Given the description of an element on the screen output the (x, y) to click on. 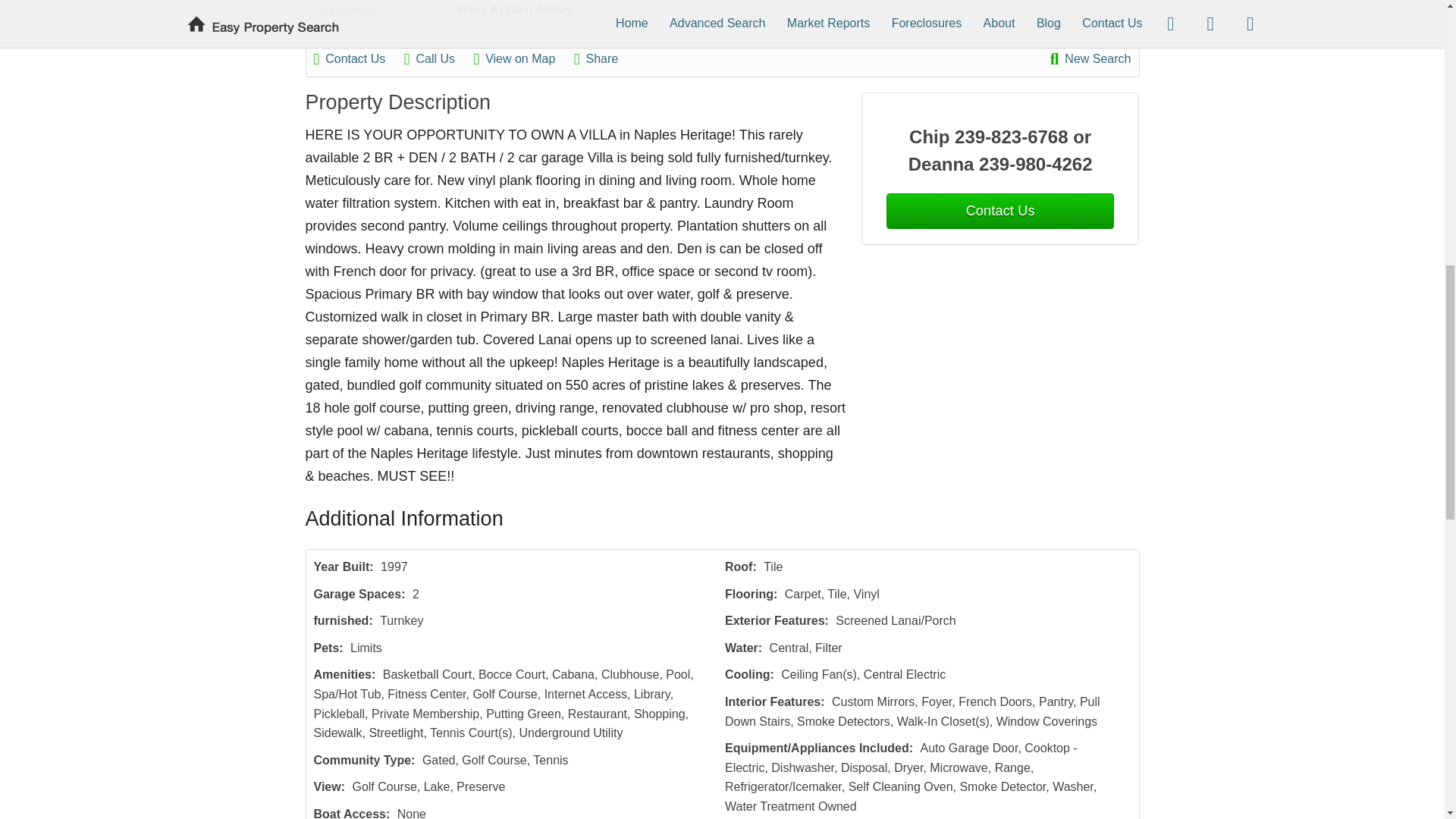
Chip 239-823-6768 or Deanna 239-980-4262 (1000, 150)
Call Us (437, 58)
Contact Us (999, 211)
Contact Us (357, 58)
New Search (1090, 58)
View on Map (521, 58)
Share (603, 58)
